Given the description of an element on the screen output the (x, y) to click on. 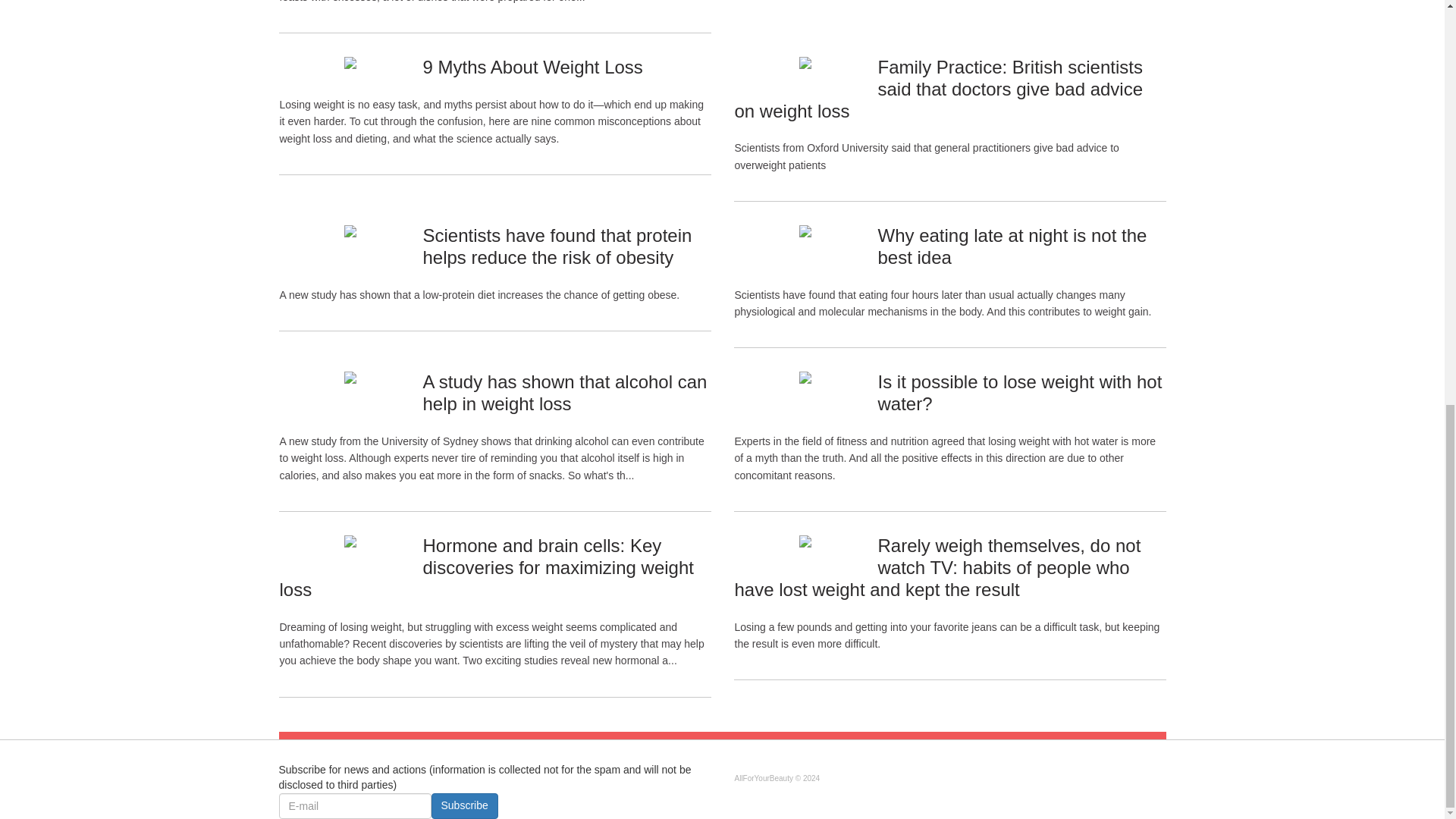
Is it possible to lose weight with hot water? (1019, 392)
9 Myths About Weight Loss (532, 66)
Why eating late at night is not the best idea (1012, 246)
A study has shown that alcohol can help in weight loss (564, 392)
